Given the description of an element on the screen output the (x, y) to click on. 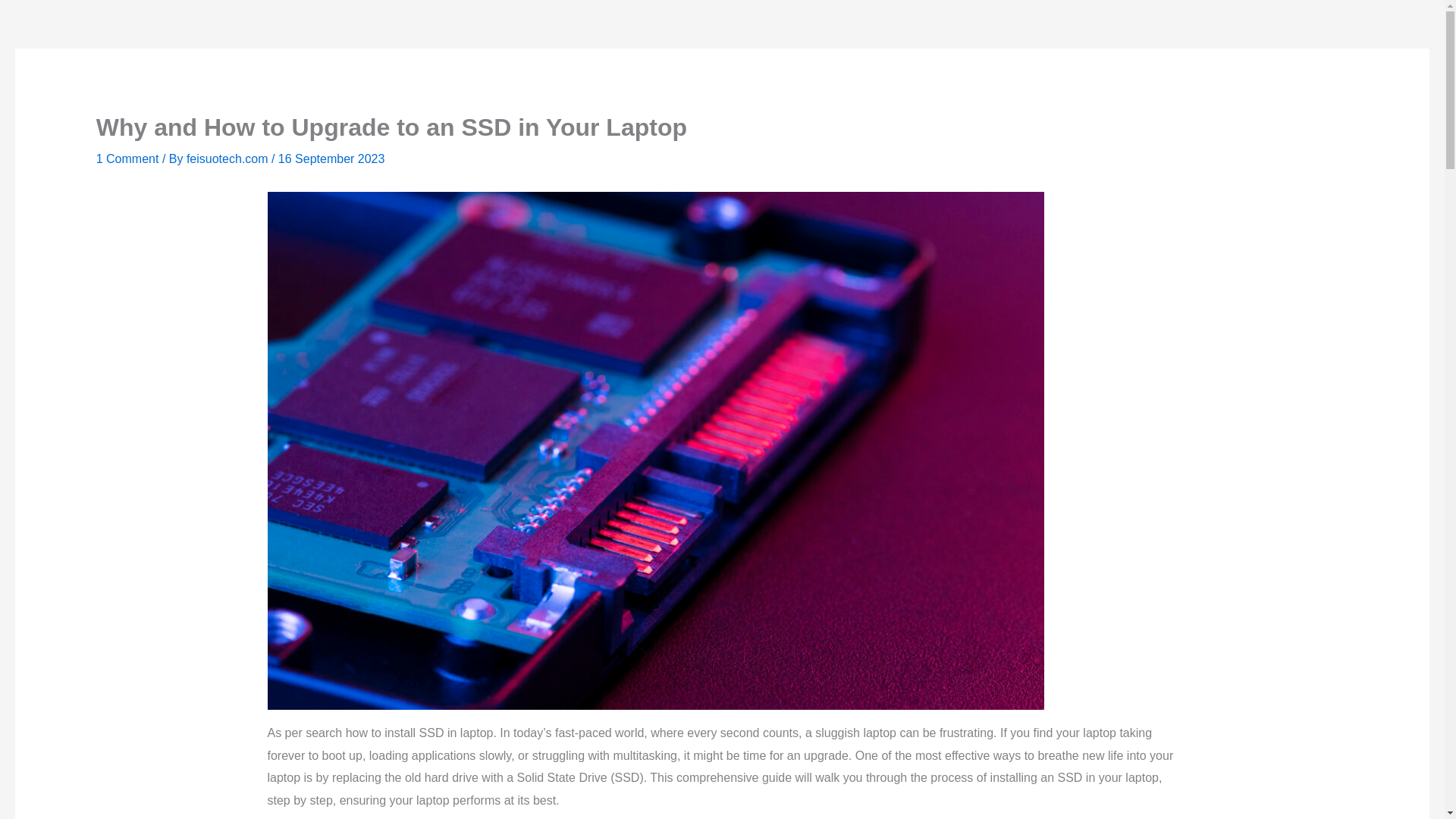
View all posts by feisuotech.com (228, 158)
feisuotech.com (228, 158)
1 Comment (127, 158)
